Given the description of an element on the screen output the (x, y) to click on. 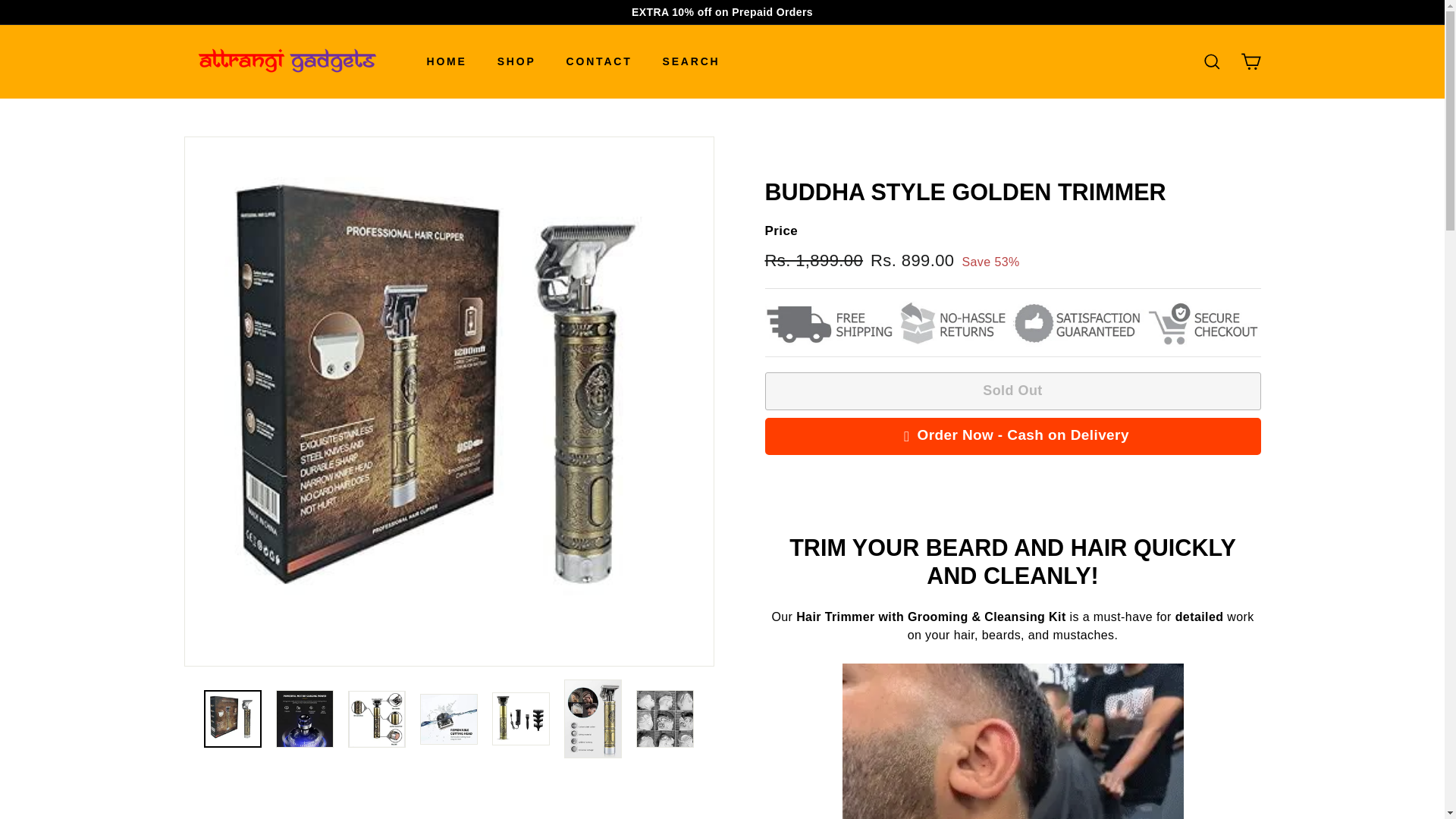
SHOP (516, 61)
SEARCH (691, 61)
HOME (445, 61)
CONTACT (599, 61)
Sold Out (1012, 391)
